Given the description of an element on the screen output the (x, y) to click on. 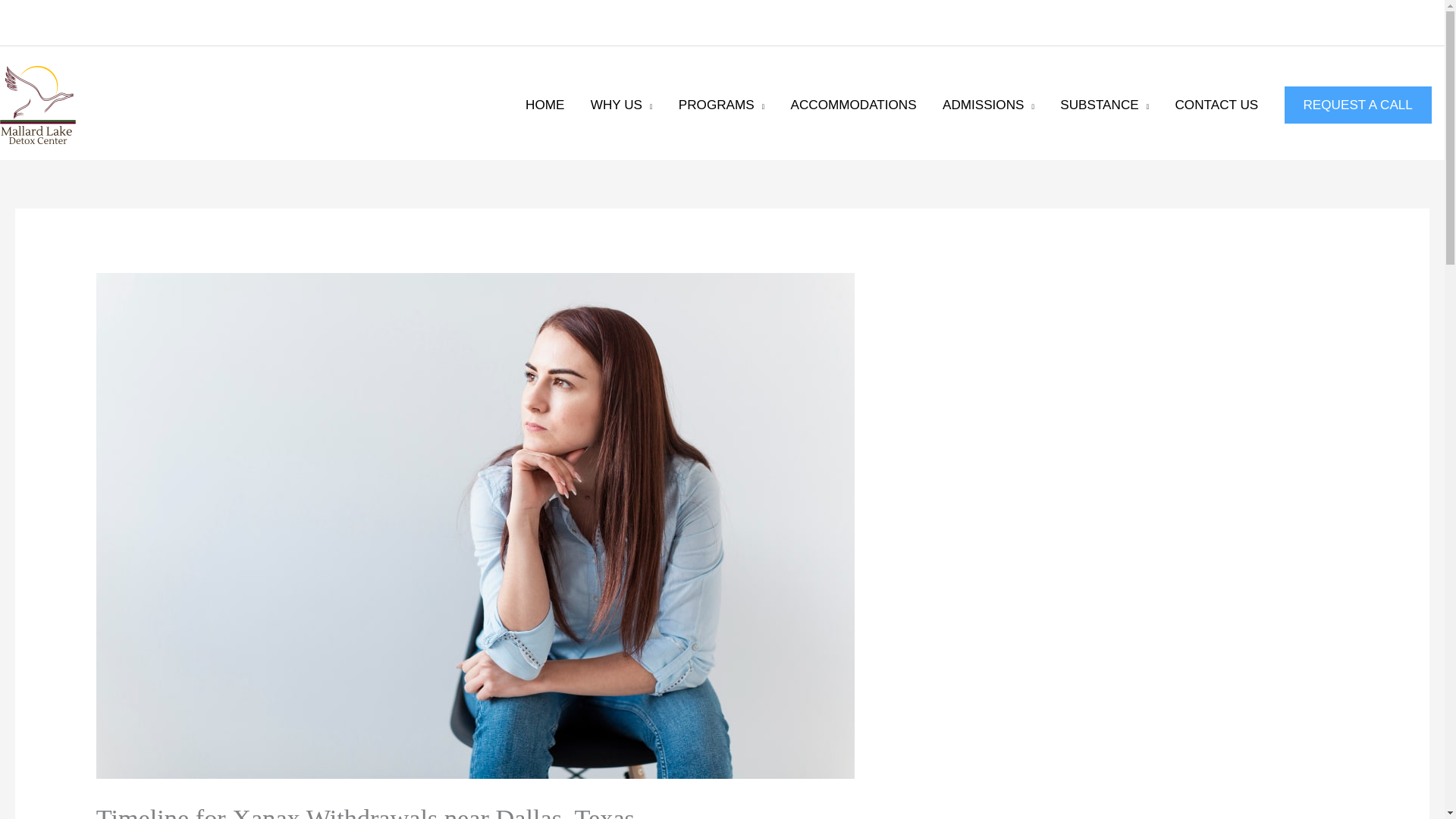
SUBSTANCE (1103, 104)
ACCOMMODATIONS (852, 104)
REQUEST A CALL (1357, 104)
CONTACT US (1216, 104)
Mallard Lake Detox Center (37, 105)
ADMISSIONS (988, 104)
PROGRAMS (721, 104)
HOME (545, 104)
WHY US (621, 104)
